Given the description of an element on the screen output the (x, y) to click on. 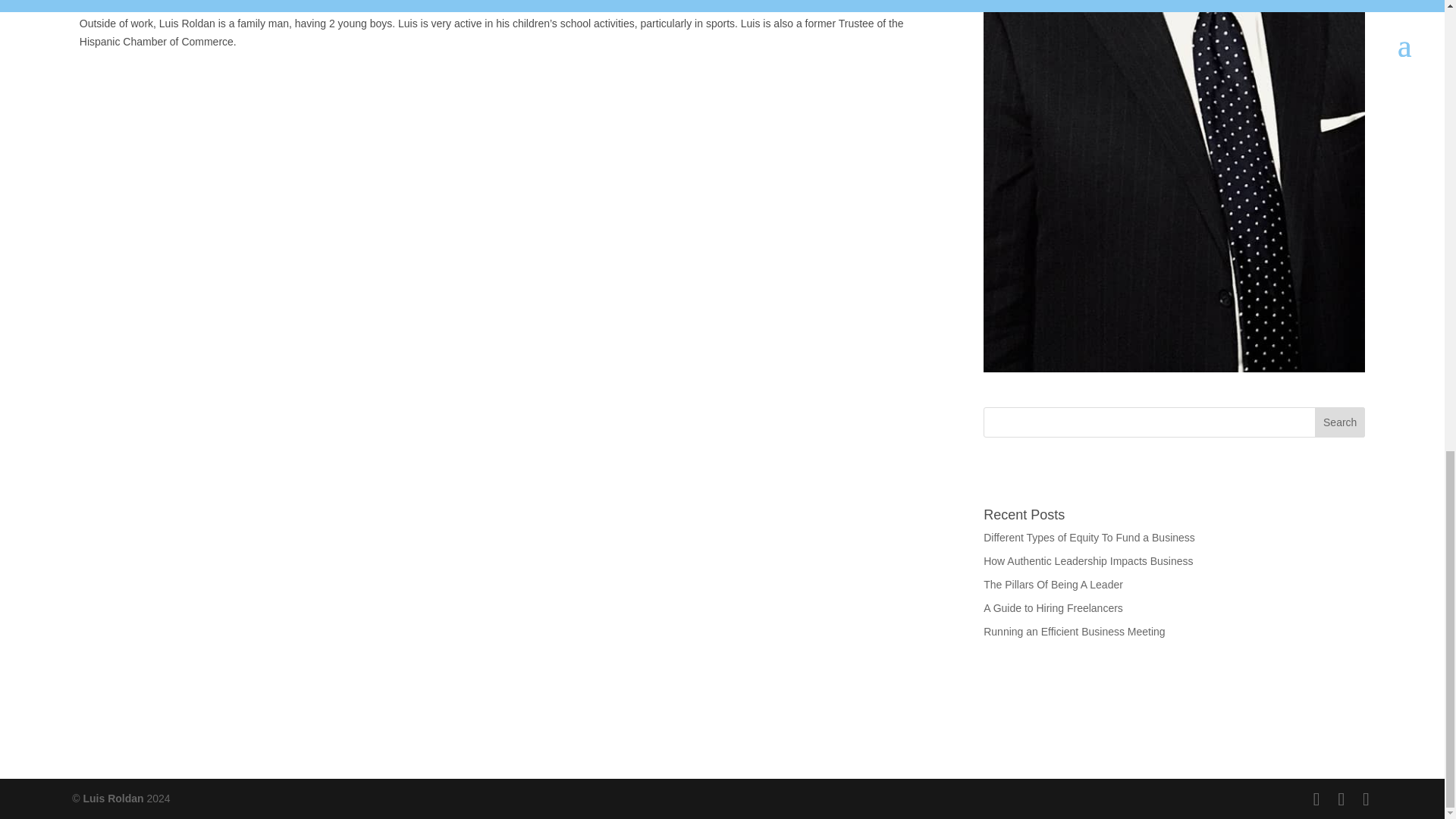
The Pillars Of Being A Leader (1053, 584)
Search (1339, 422)
How Authentic Leadership Impacts Business (1088, 561)
Different Types of Equity To Fund a Business (1089, 537)
Luis Roldan (112, 798)
Search (1339, 422)
A Guide to Hiring Freelancers (1053, 607)
Running an Efficient Business Meeting (1074, 631)
